Given the description of an element on the screen output the (x, y) to click on. 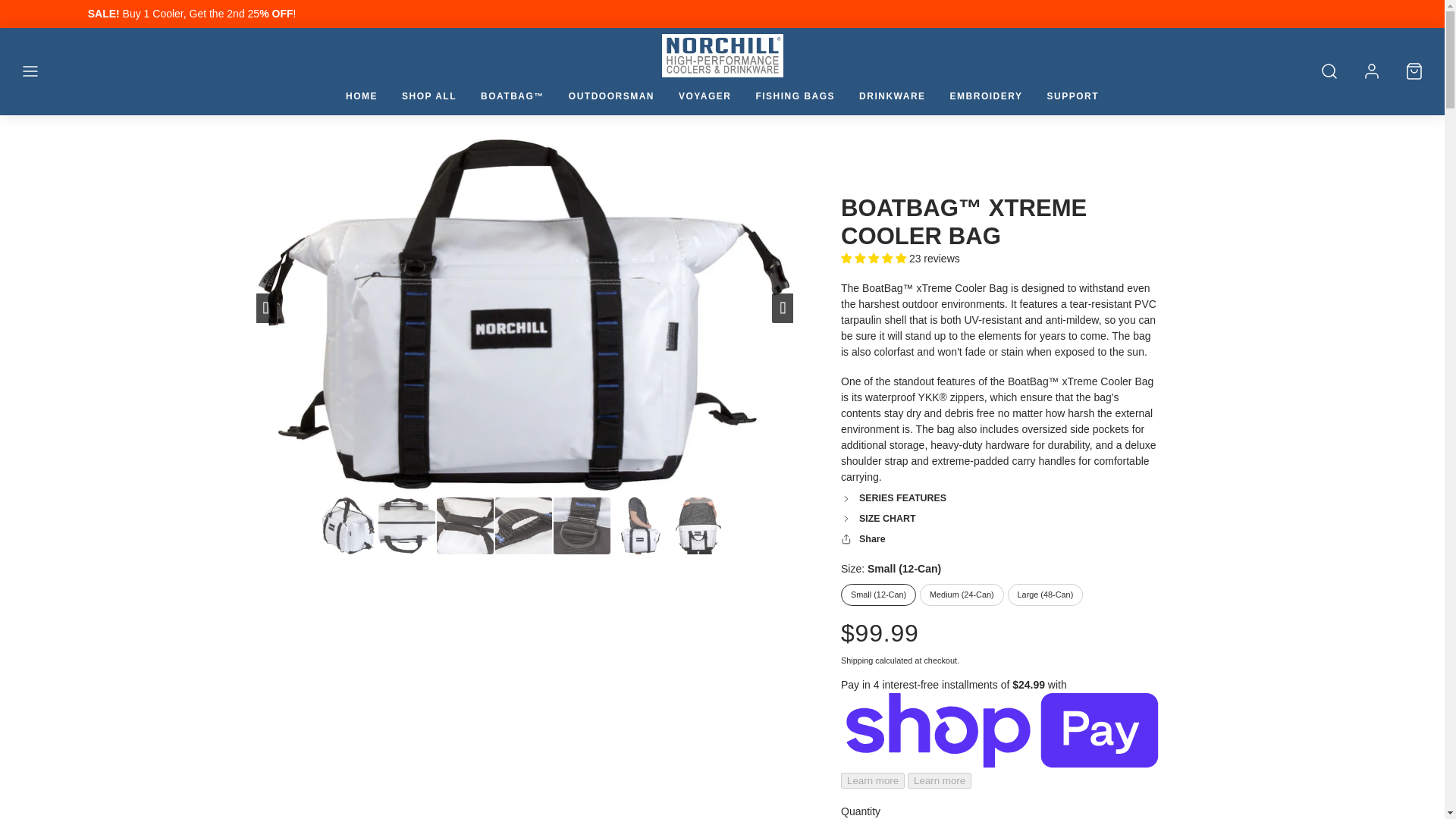
EMBROIDERY (986, 95)
SEARCH (1329, 71)
VOYAGER (704, 95)
FISHING BAGS (794, 95)
SHOP ALL (429, 95)
SUPPORT (1072, 95)
DRINKWARE (892, 95)
HOME (361, 95)
MENU (29, 71)
OUTDOORSMAN (611, 95)
